Given the description of an element on the screen output the (x, y) to click on. 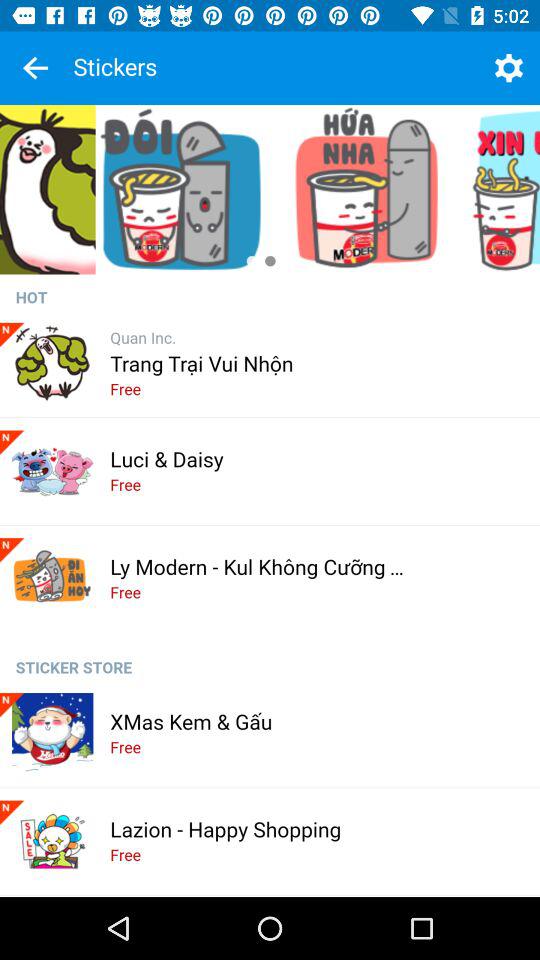
go back (35, 68)
